Given the description of an element on the screen output the (x, y) to click on. 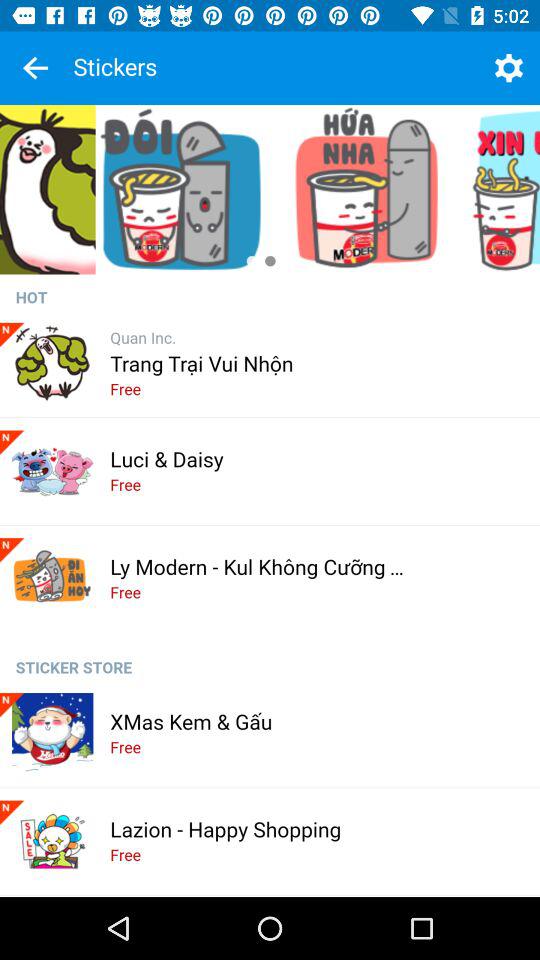
go back (35, 68)
